Given the description of an element on the screen output the (x, y) to click on. 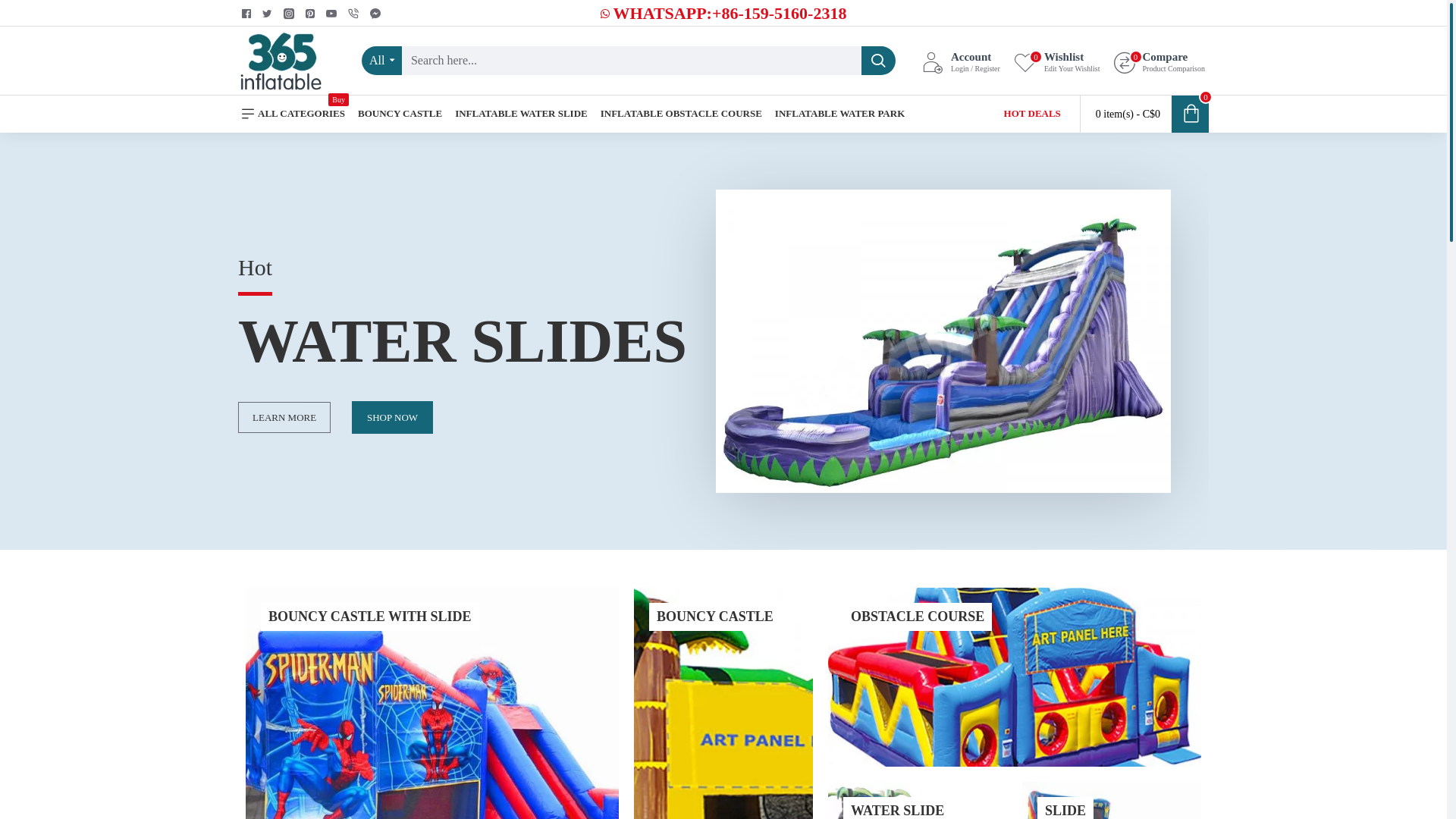
ALL CATEGORIES
Buy Element type: text (293, 113)
LEARN MORE Element type: text (284, 417)
OBSTACLE COURSE Element type: text (1014, 676)
BOUNCY CASTLE Element type: text (399, 113)
HOT DEALS Element type: text (1032, 113)
SHOP NOW Element type: text (392, 417)
INFLATABLE WATER PARK Element type: text (839, 113)
INFLATABLE OBSTACLE COURSE Element type: text (680, 113)
0 item(s) - C$0
0 Element type: text (1144, 113)
Account
Login / Register Element type: text (961, 59)
Wishlist
Edit Your Wishlist
0 Element type: text (1057, 59)
365inflatable.ca Element type: hover (280, 60)
Compare
Product Comparison
0 Element type: text (1159, 59)
INFLATABLE WATER SLIDE Element type: text (521, 113)
WHATSAPP:+86-159-5160-2318 Element type: text (723, 13)
